Given the description of an element on the screen output the (x, y) to click on. 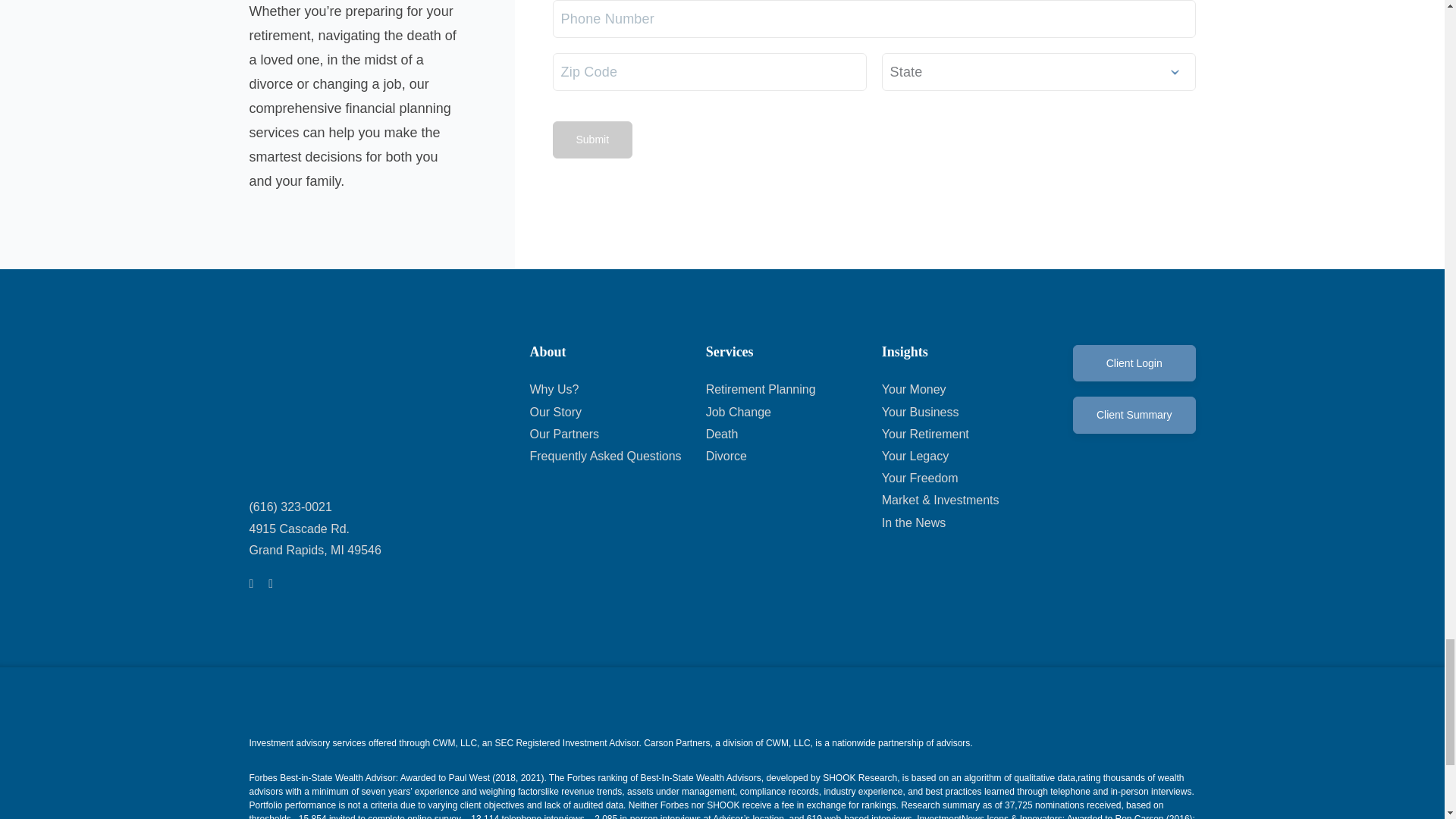
Submit (591, 139)
